Given the description of an element on the screen output the (x, y) to click on. 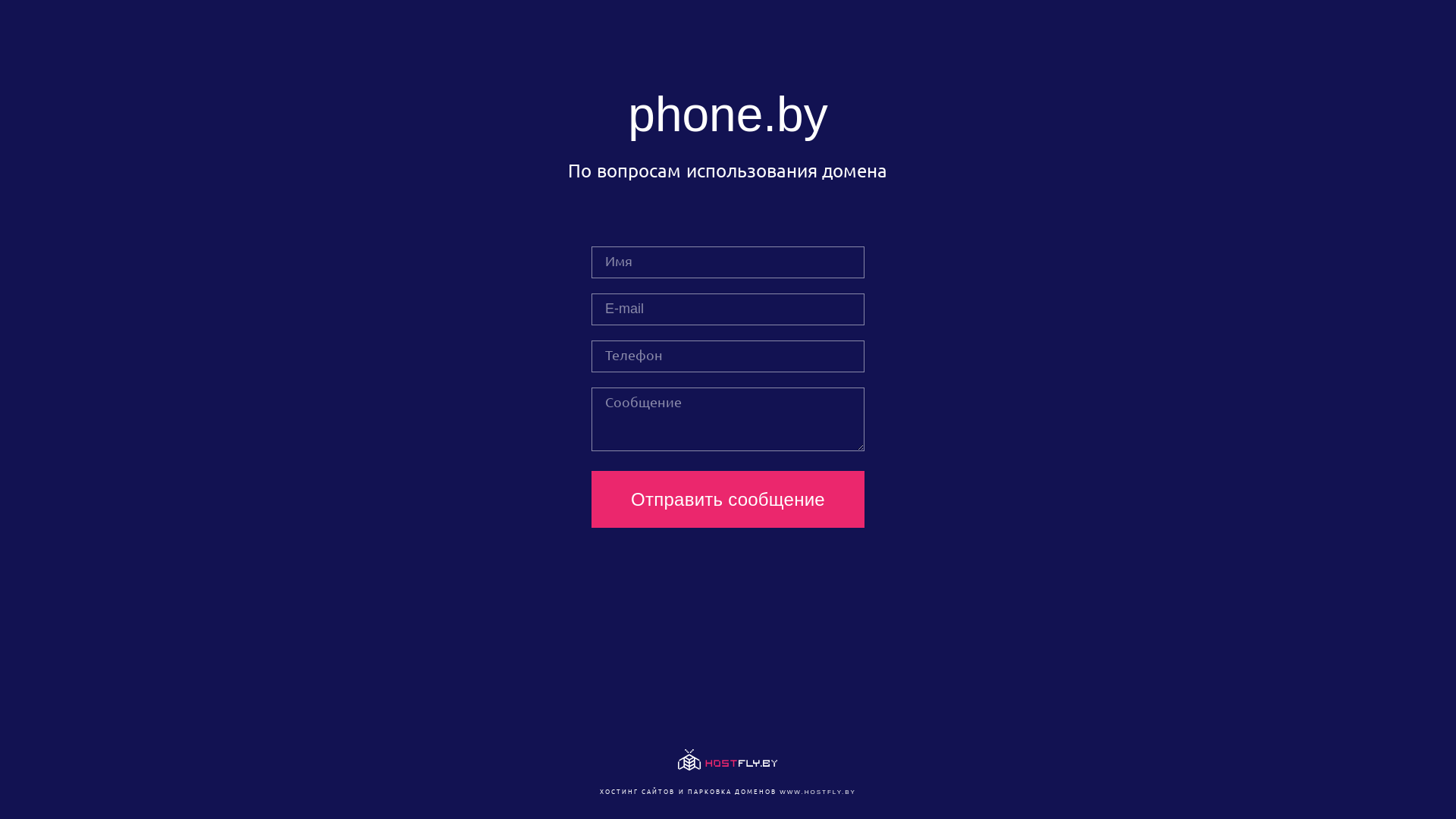
WWW.HOSTFLY.BY Element type: text (817, 791)
